Given the description of an element on the screen output the (x, y) to click on. 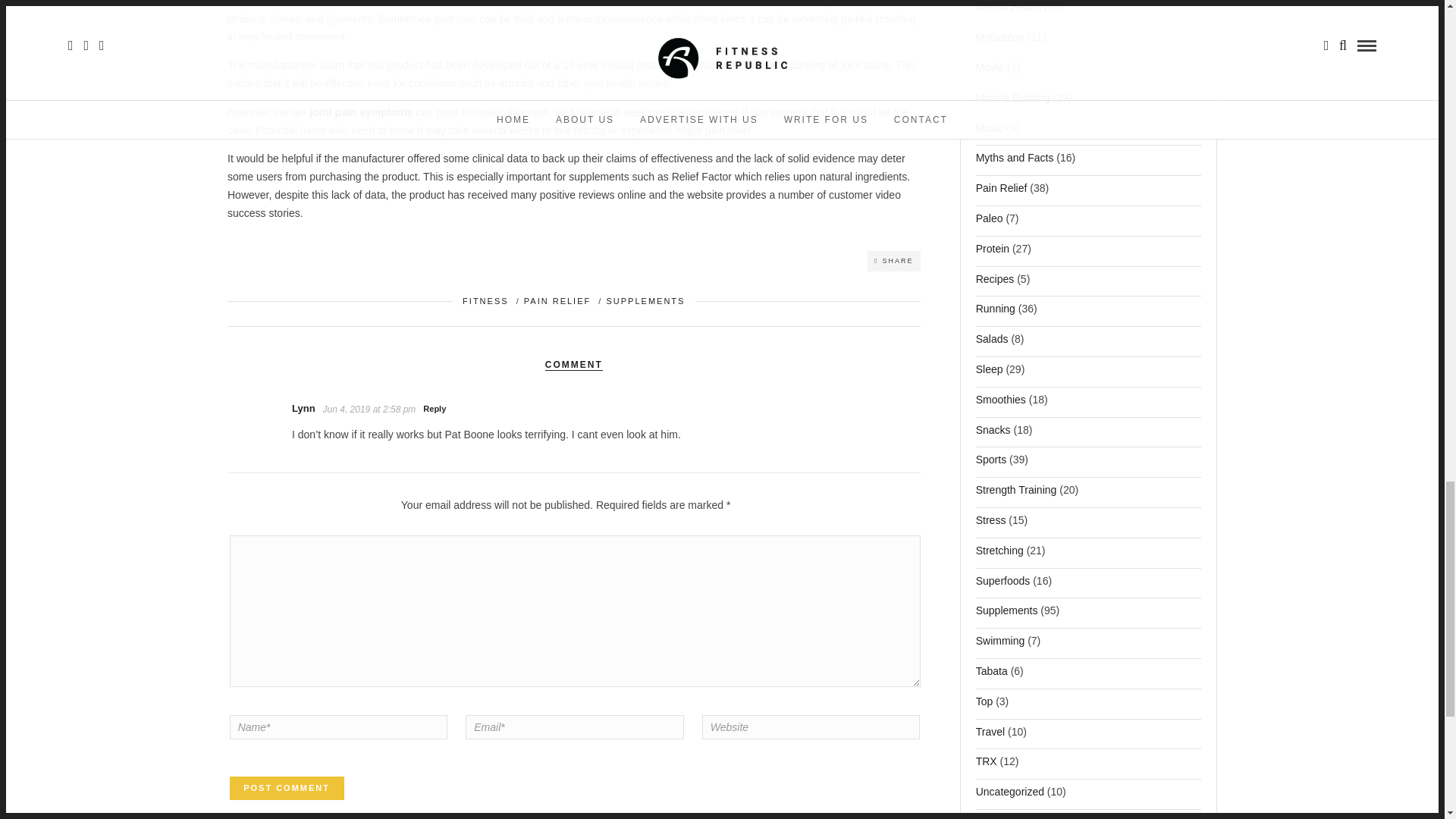
PAIN RELIEF (557, 300)
FITNESS (485, 300)
Post Comment (286, 788)
Post Comment (286, 788)
Reply (434, 408)
joint pain symptoms (360, 111)
SUPPLEMENTS (644, 300)
